Given the description of an element on the screen output the (x, y) to click on. 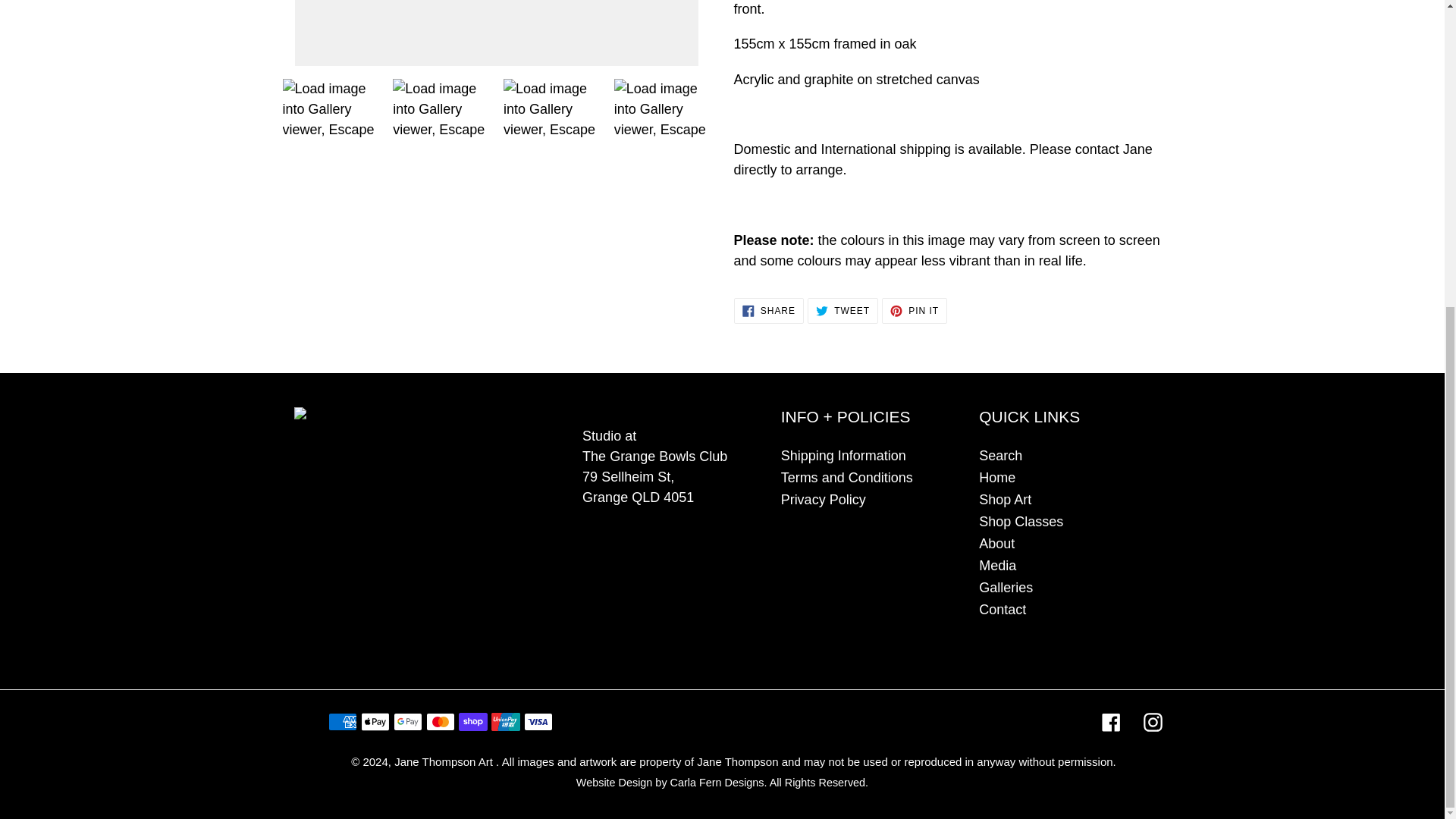
Shipping Information (914, 310)
